Given the description of an element on the screen output the (x, y) to click on. 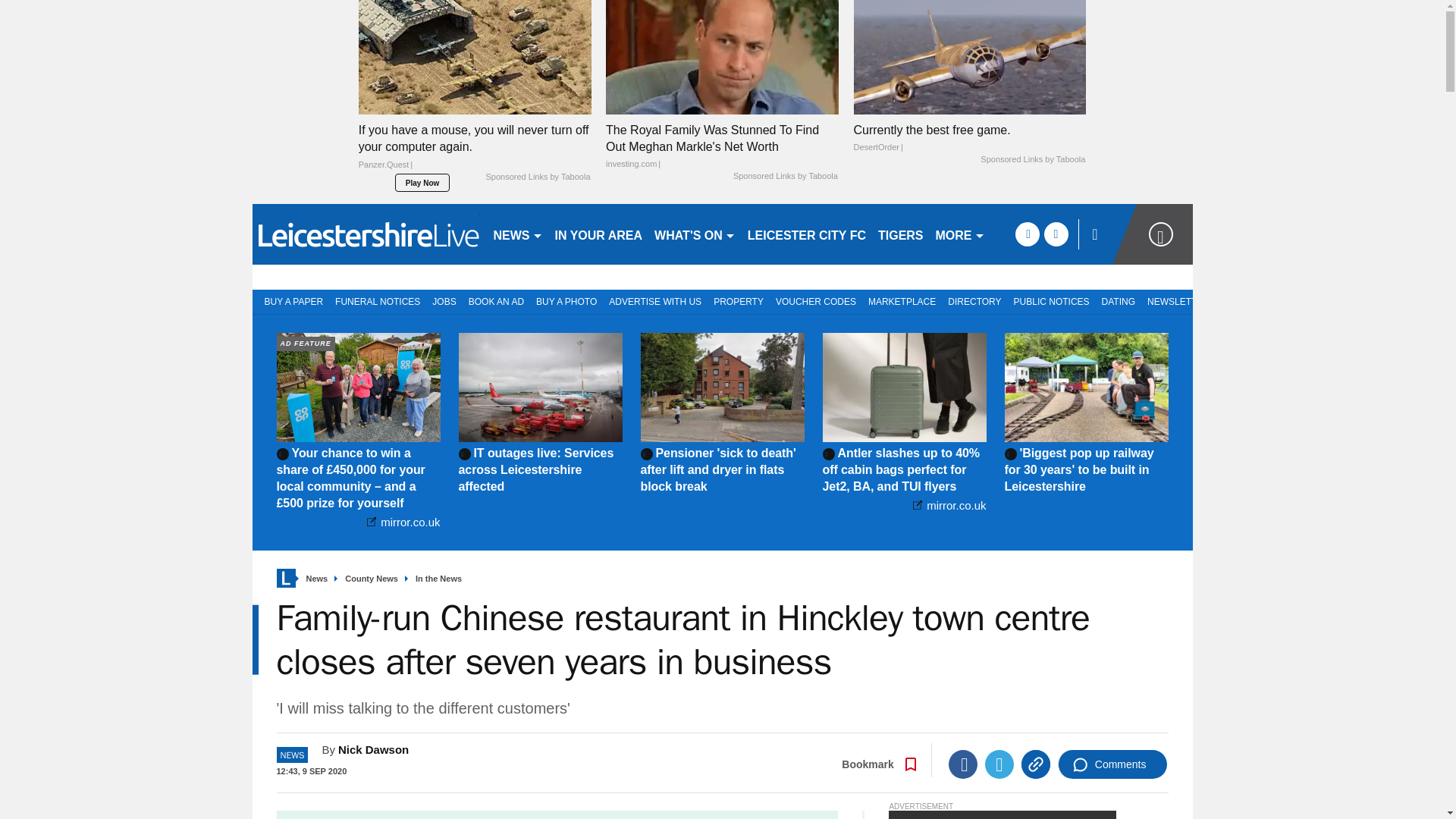
Twitter (999, 764)
Comments (1112, 764)
Play Now (421, 182)
IN YOUR AREA (598, 233)
Facebook (962, 764)
WHAT'S ON (694, 233)
Sponsored Links by Taboola (785, 176)
NEWS (517, 233)
leicestermercury (365, 233)
facebook (1026, 233)
